Given the description of an element on the screen output the (x, y) to click on. 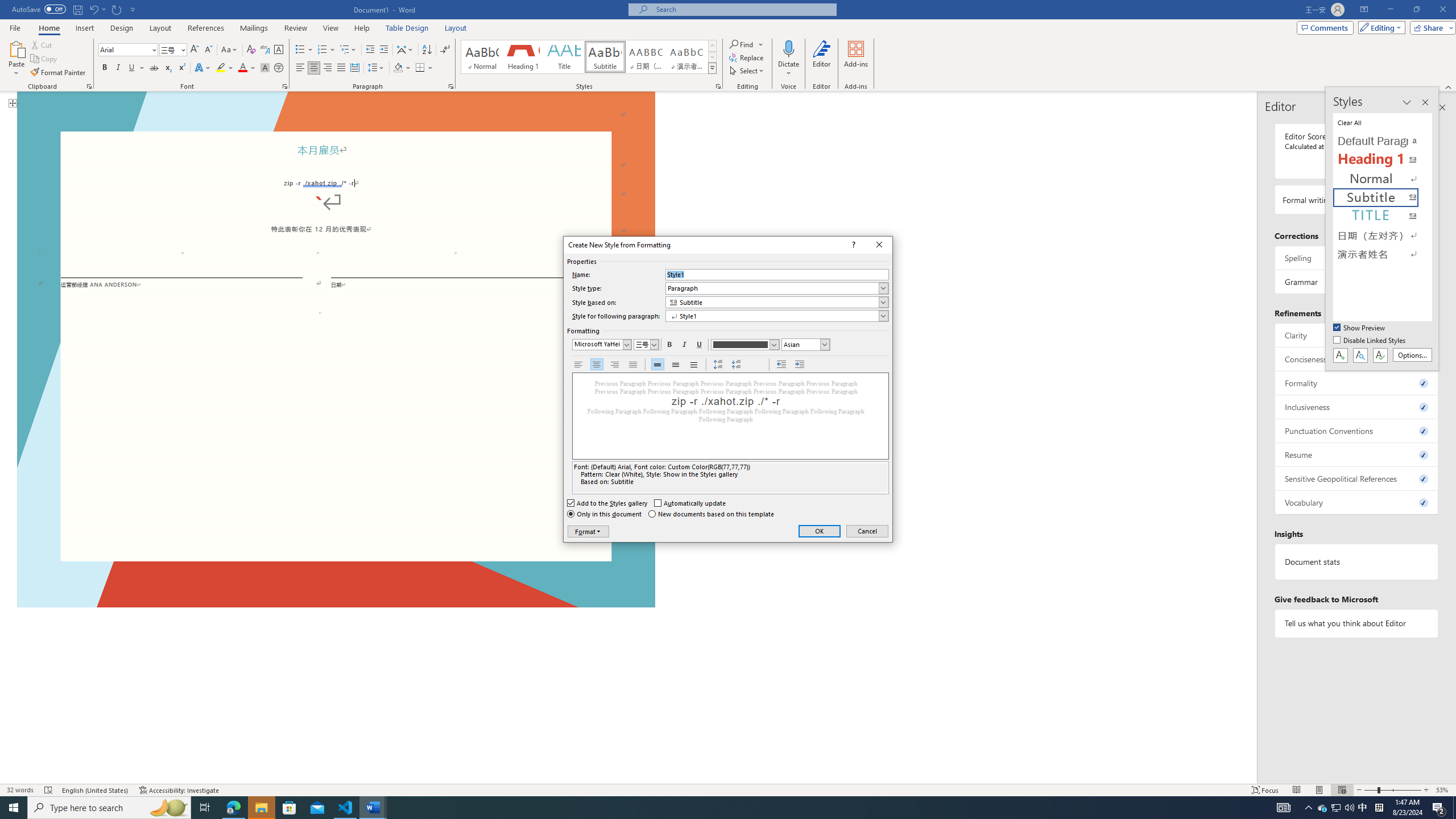
Style for following paragraph: (777, 315)
Undo Paste (92, 9)
Subtitle (605, 56)
Font Color Red (241, 67)
Font Color (RGB(77,77,77)) (745, 344)
Heading 1 (522, 56)
